Given the description of an element on the screen output the (x, y) to click on. 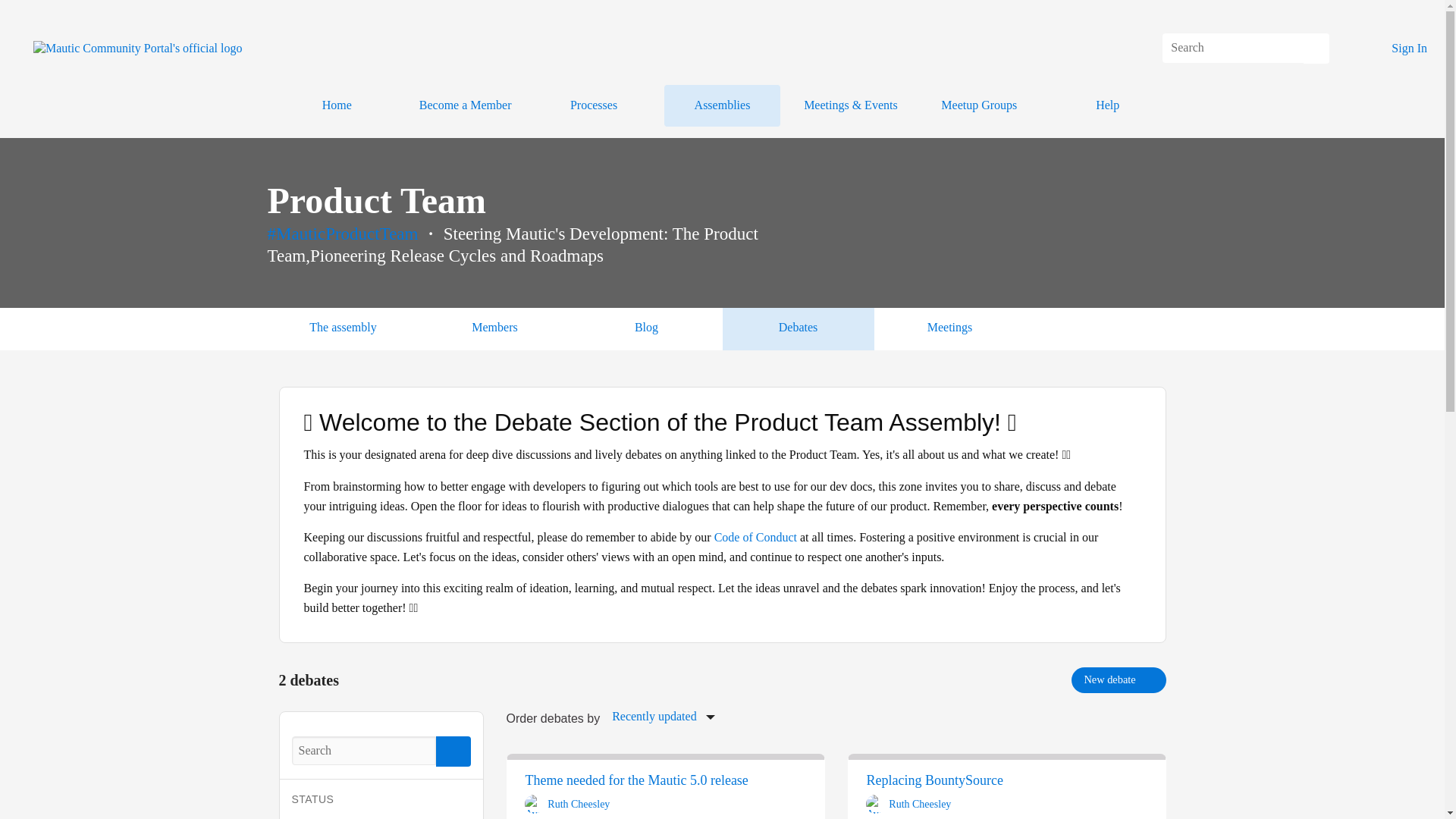
Meetup Groups (1118, 679)
Processes (978, 105)
Meetings (592, 105)
verified-badge (949, 328)
Debates (959, 804)
Home (797, 328)
Search (336, 105)
Order debates by (452, 751)
Assemblies (662, 717)
